Given the description of an element on the screen output the (x, y) to click on. 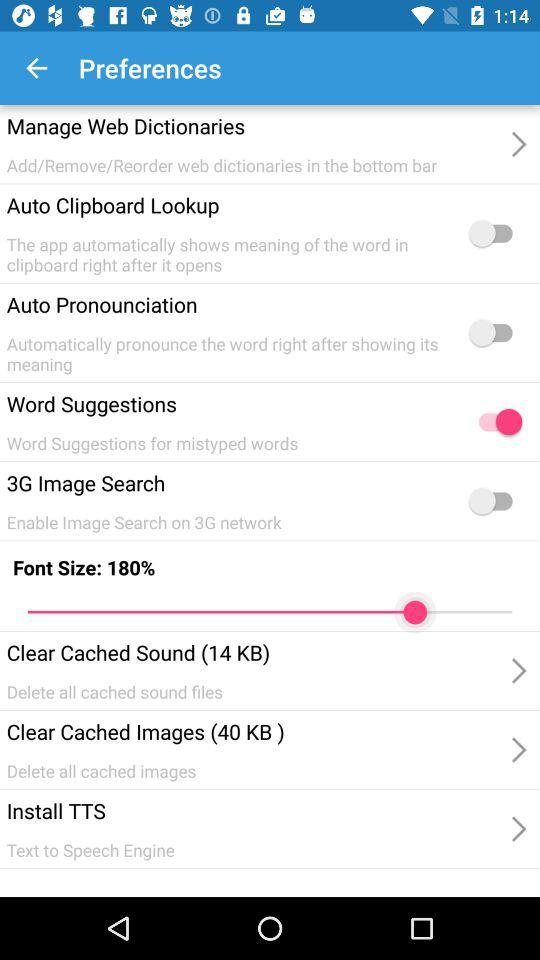
enable auto pronounciation (495, 332)
